Given the description of an element on the screen output the (x, y) to click on. 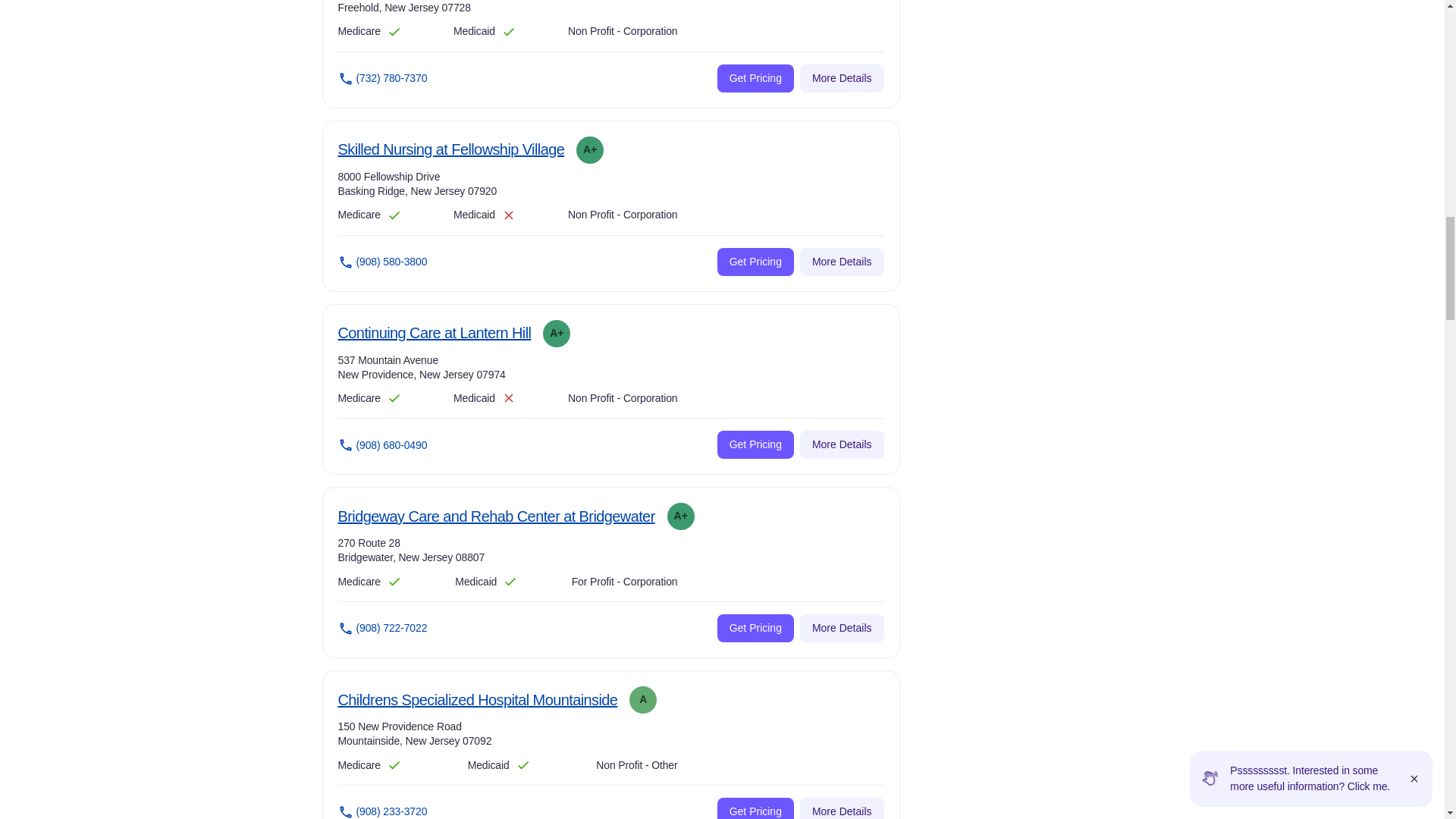
More Details (496, 516)
Get Pricing (841, 78)
Get Pricing (450, 149)
More Details (755, 78)
Get Pricing (755, 262)
More Details (841, 444)
